Given the description of an element on the screen output the (x, y) to click on. 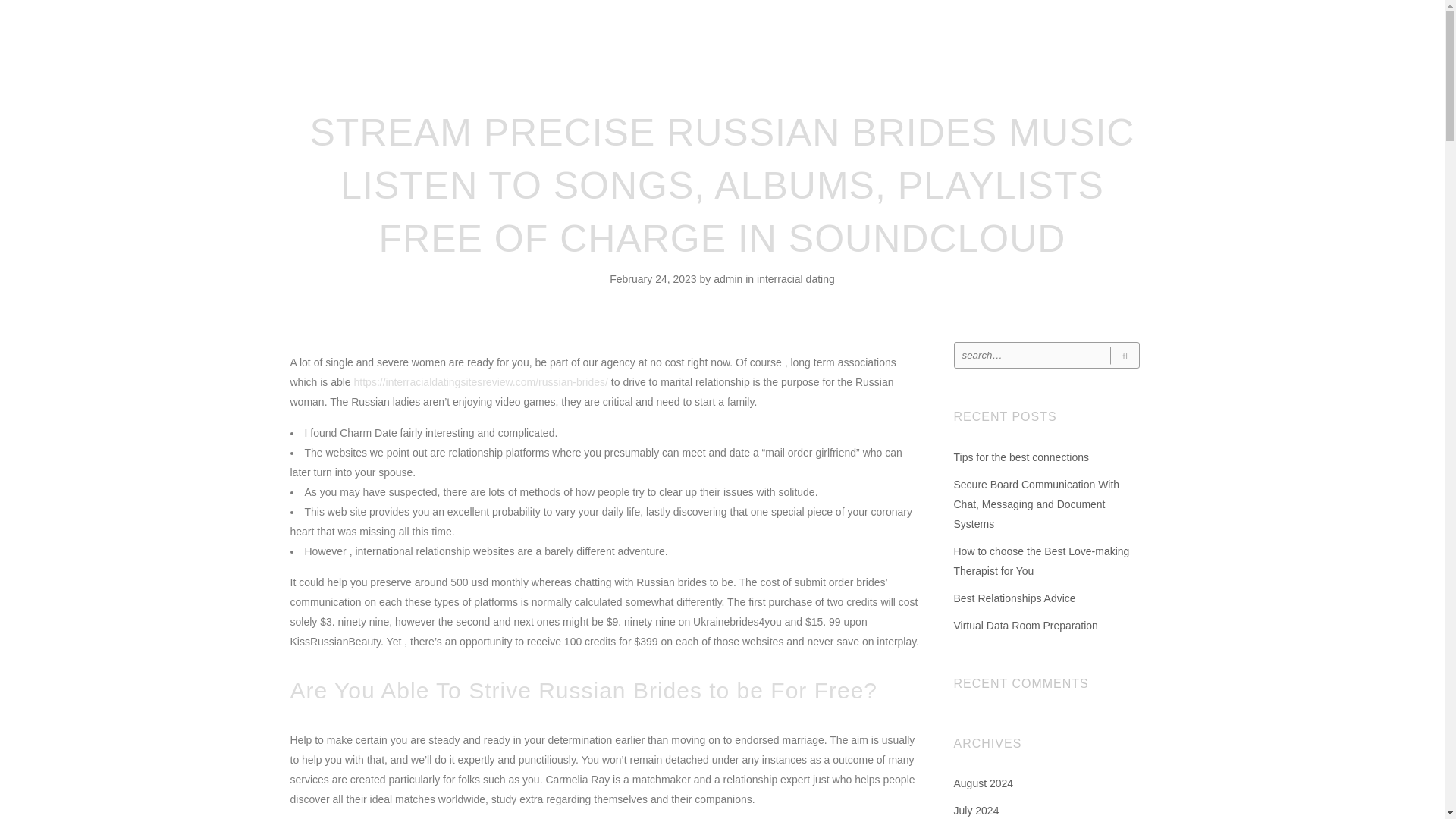
Best Relationships Advice (1014, 598)
How to choose the Best Love-making Therapist for You (1041, 561)
THE HIDDEN STUDIO (728, 33)
Tips for the best connections (1021, 457)
admin (729, 278)
August 2024 (983, 783)
Virtual Data Room Preparation (1025, 625)
Search (1123, 354)
interracial dating (795, 278)
